Given the description of an element on the screen output the (x, y) to click on. 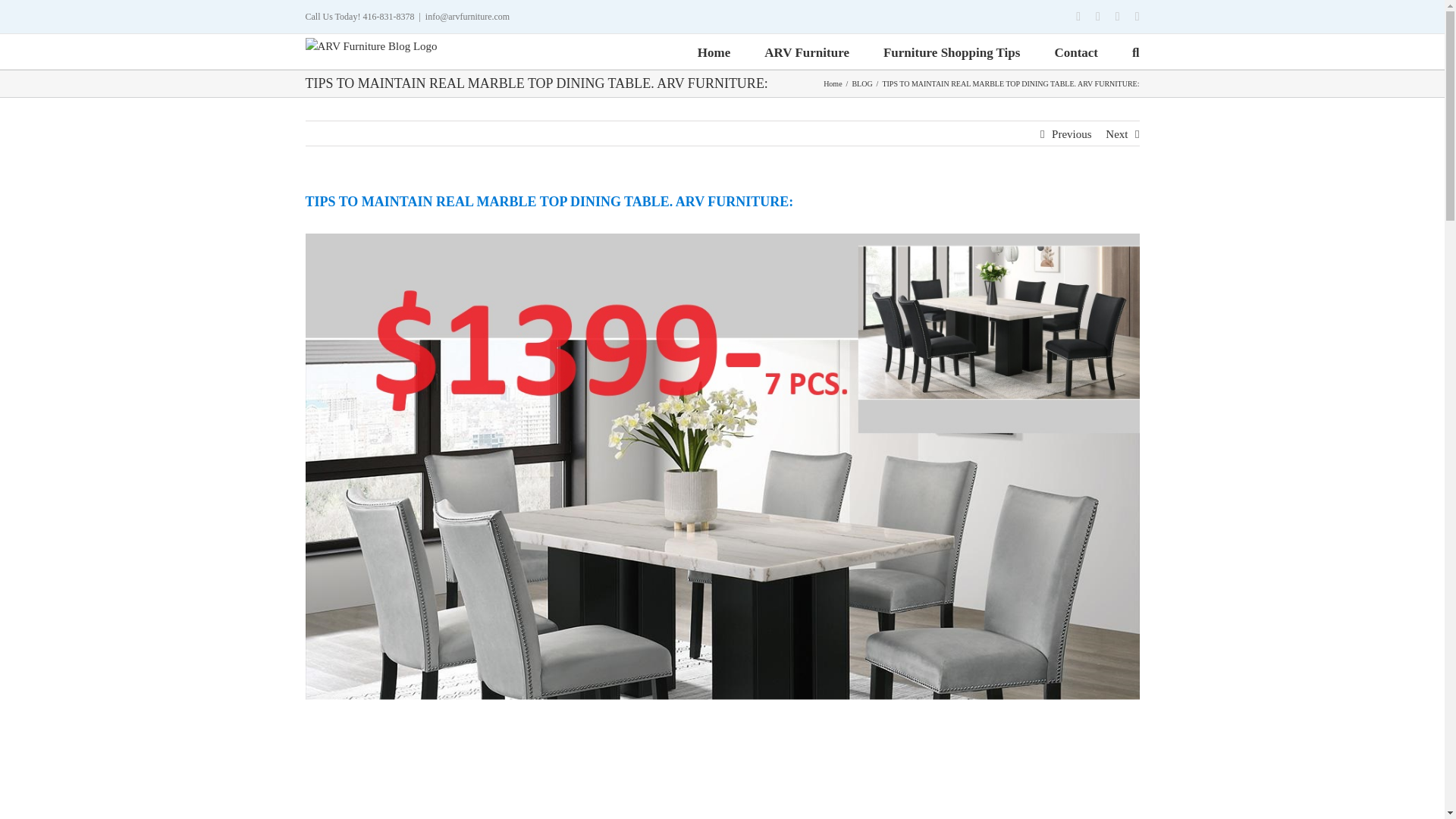
Contact (1075, 51)
Home (713, 51)
Furniture Shopping Tips (951, 51)
Previous (1071, 134)
ARV Furniture (806, 51)
Home (832, 83)
BLOG (861, 83)
